Given the description of an element on the screen output the (x, y) to click on. 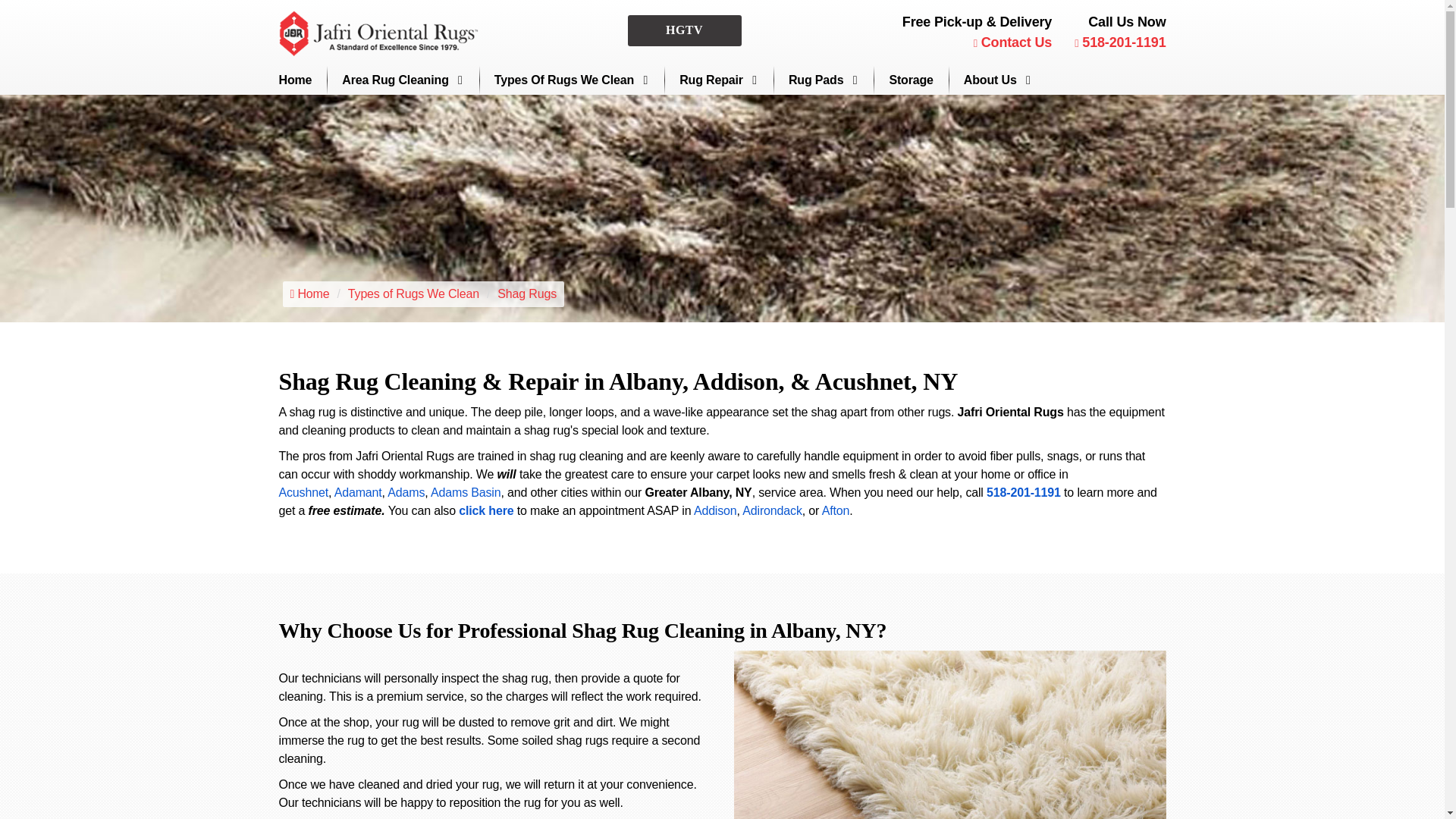
Types Of Rugs We Clean (572, 80)
HGTV (684, 30)
518-201-1191 (1120, 42)
Rug Repair (718, 80)
Area Rug Cleaning (402, 80)
Home (296, 80)
Contact Us (1013, 42)
